Given the description of an element on the screen output the (x, y) to click on. 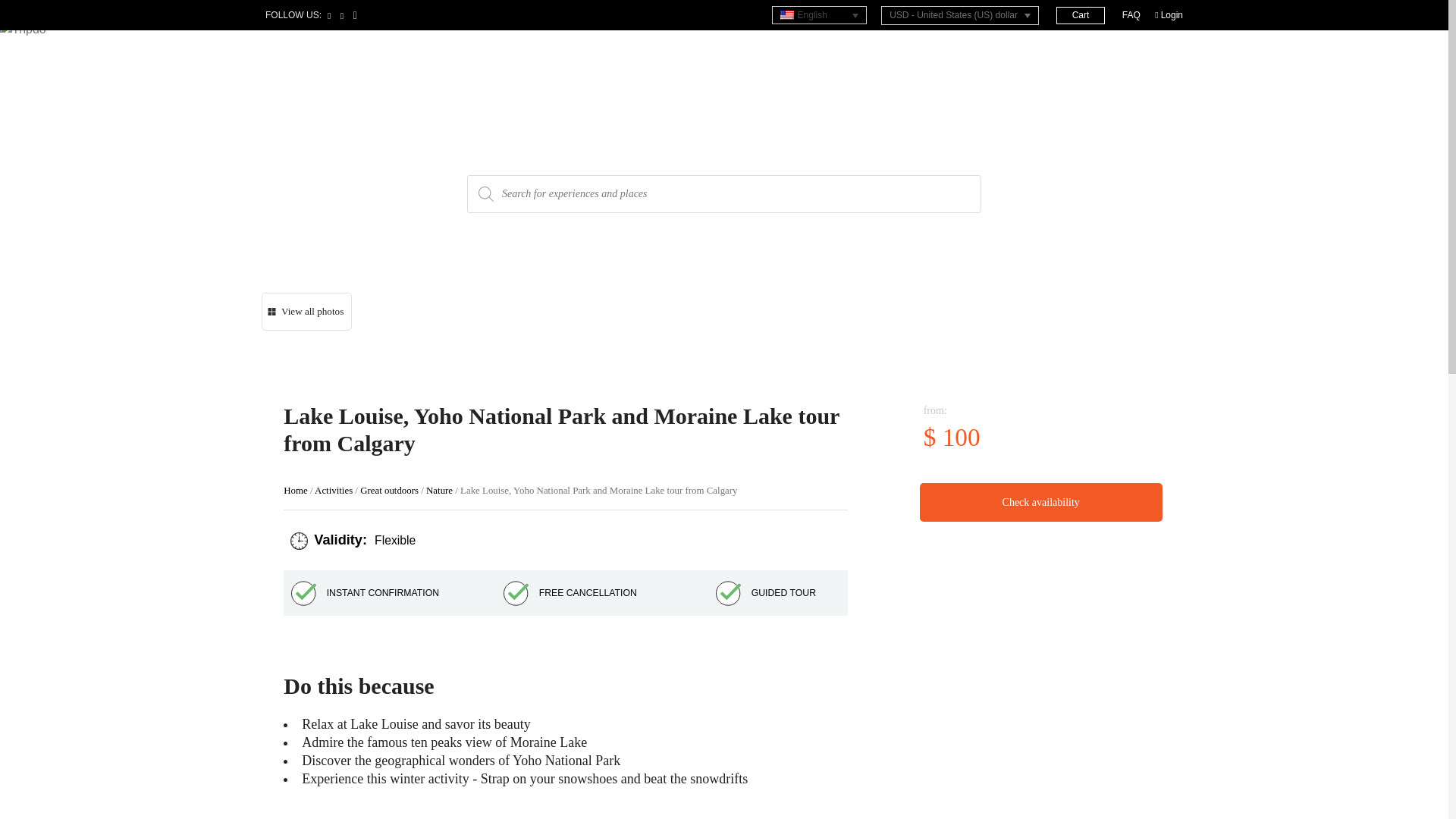
English (818, 15)
